Given the description of an element on the screen output the (x, y) to click on. 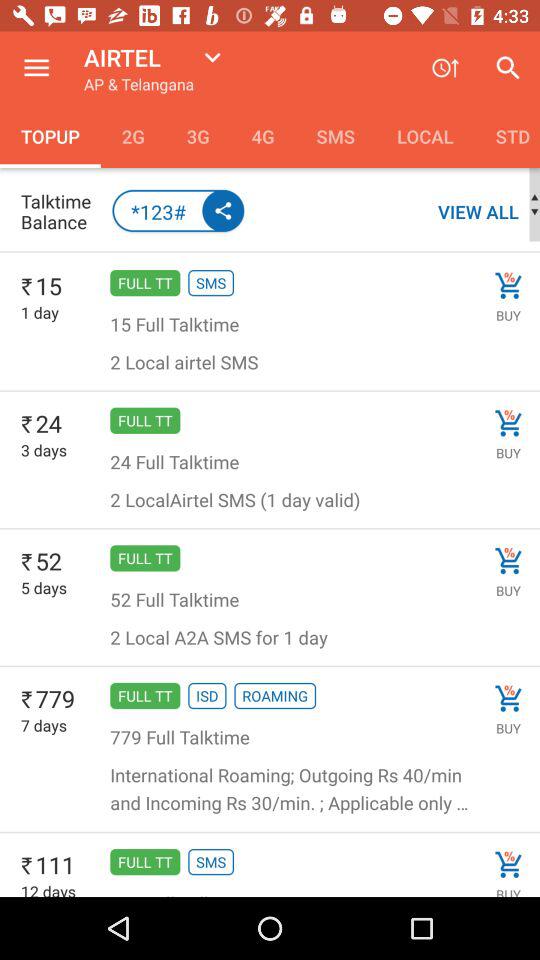
open icon to the right of topup item (132, 136)
